Given the description of an element on the screen output the (x, y) to click on. 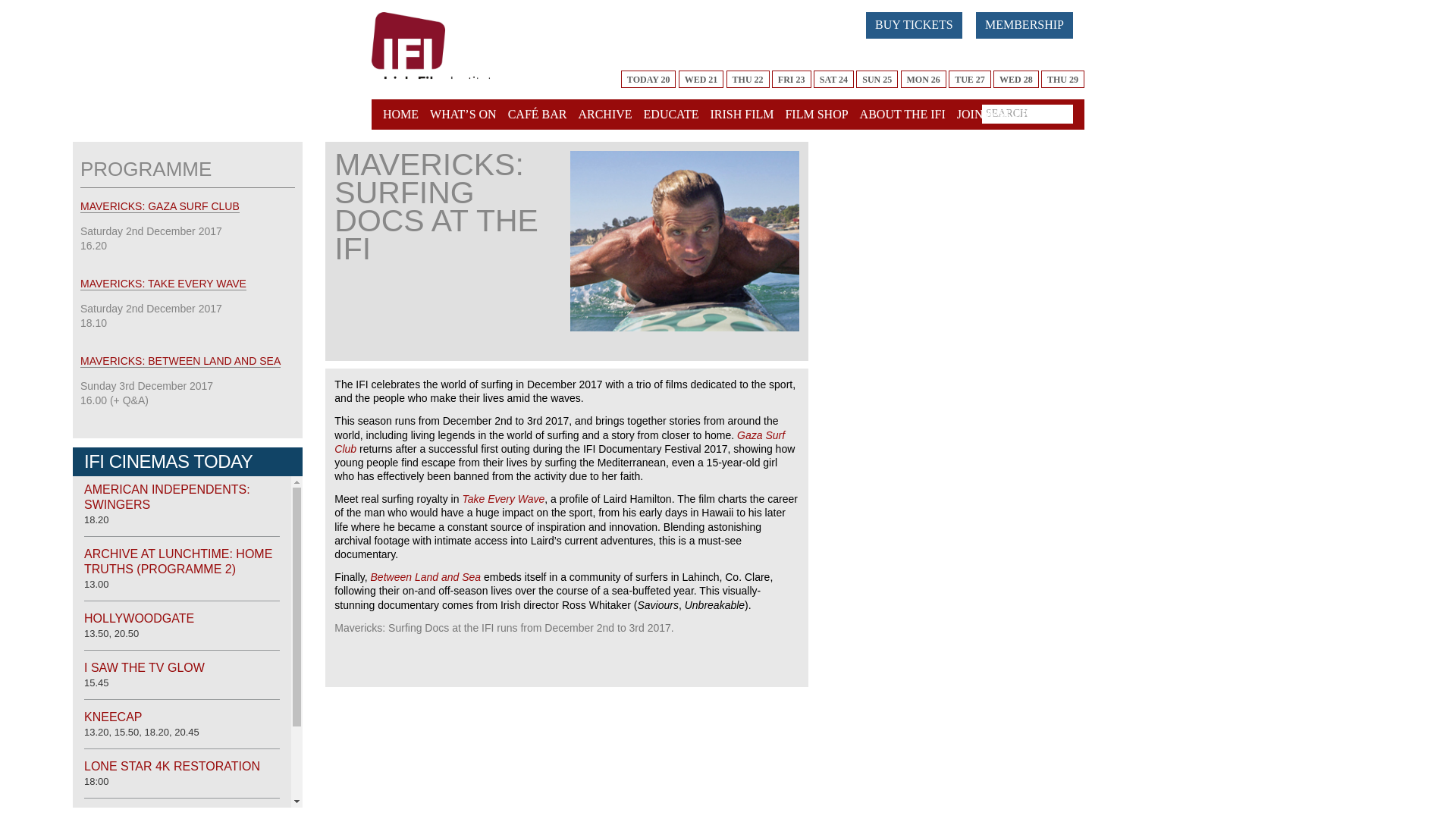
TODAY 20 (649, 78)
BUY TICKETS (914, 25)
MEMBERSHIP (1029, 23)
THU 29 (1062, 78)
WED 28 (1015, 78)
TUE 27 (970, 78)
WED 21 (700, 78)
SUN 25 (877, 78)
SAT 24 (833, 78)
HOME (403, 114)
